Given the description of an element on the screen output the (x, y) to click on. 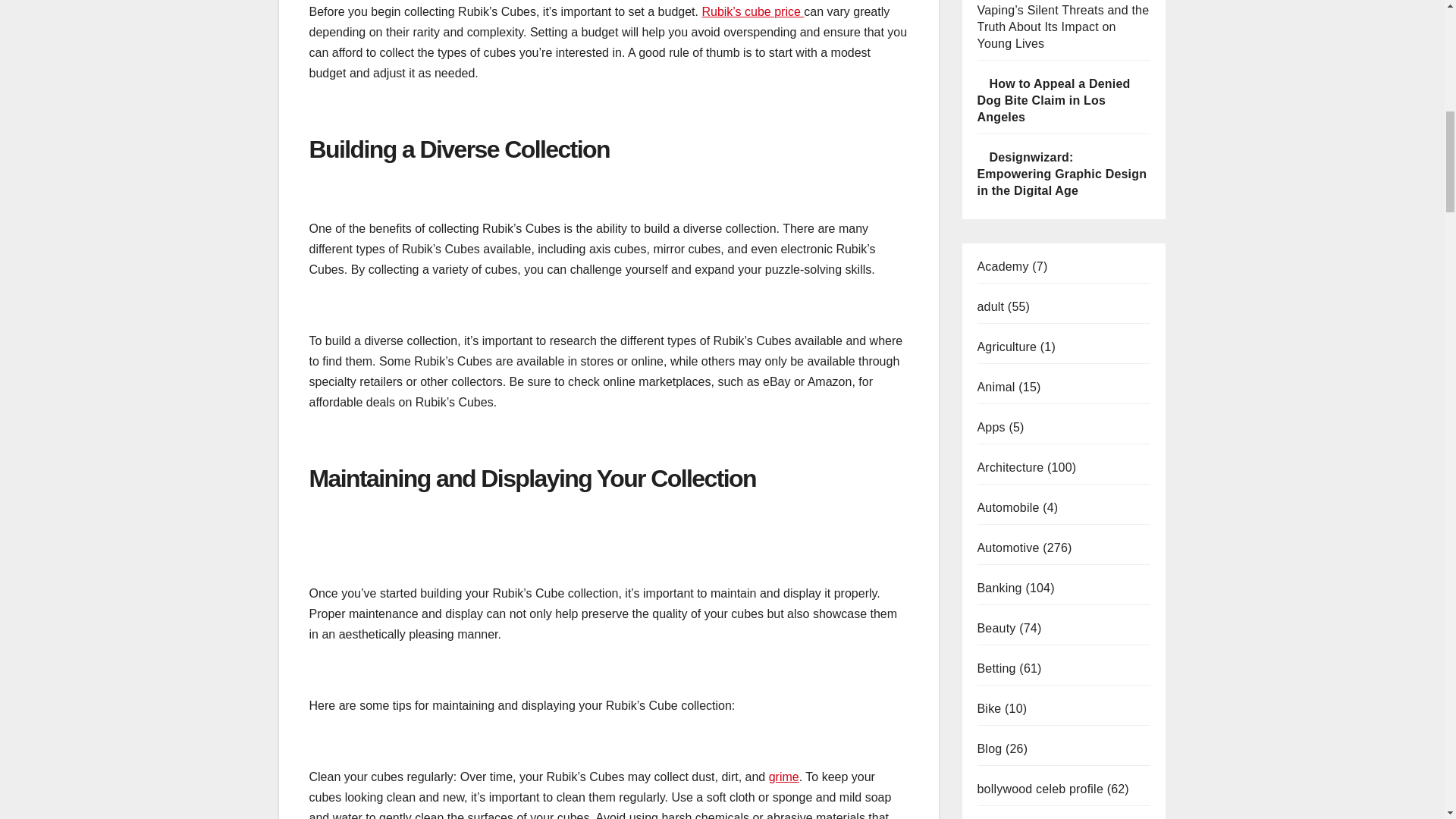
grime (783, 776)
